Given the description of an element on the screen output the (x, y) to click on. 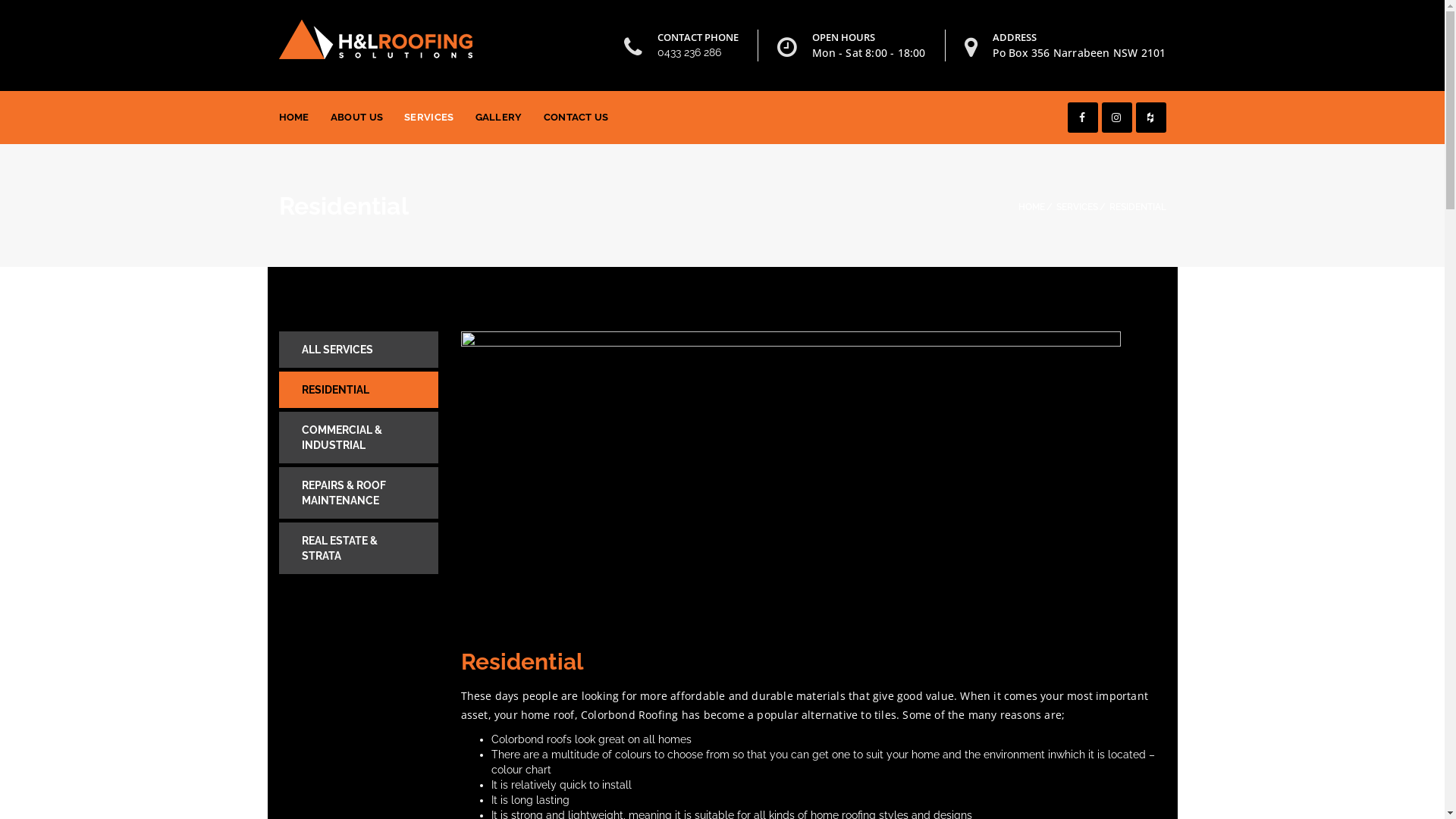
HOME Element type: text (1030, 206)
HOME Element type: text (294, 117)
ABOUT US Element type: text (356, 117)
REAL ESTATE & STRATA Element type: text (358, 548)
GALLERY Element type: text (498, 117)
COMMERCIAL & INDUSTRIAL Element type: text (358, 437)
REPAIRS & ROOF MAINTENANCE Element type: text (358, 492)
RESIDENTIAL Element type: text (358, 389)
0433 236 286 Element type: text (689, 52)
SERVICES Element type: text (1076, 206)
SERVICES Element type: text (428, 117)
CONTACT US Element type: text (575, 117)
ALL SERVICES Element type: text (358, 349)
